Given the description of an element on the screen output the (x, y) to click on. 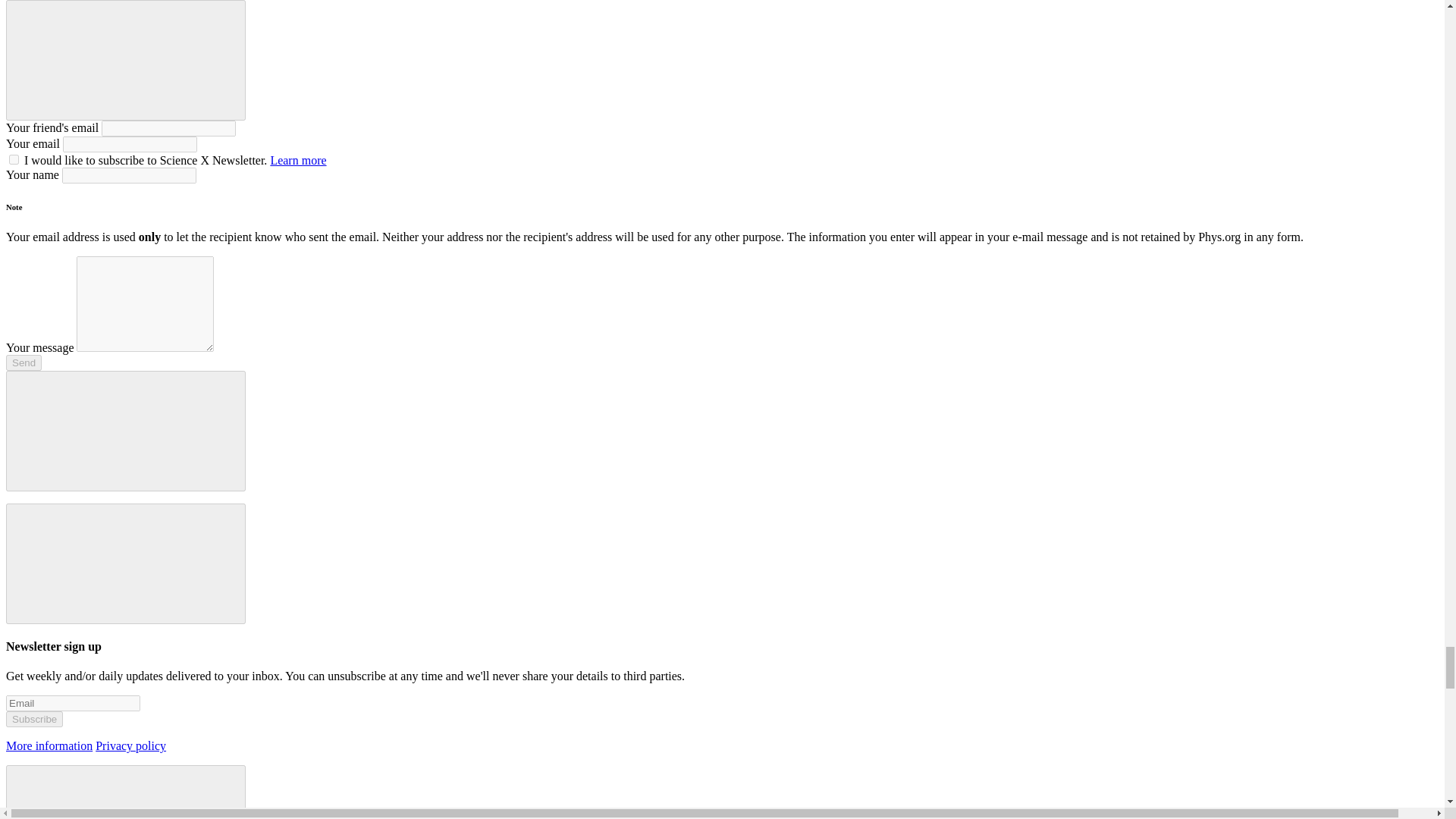
1 (13, 159)
